Given the description of an element on the screen output the (x, y) to click on. 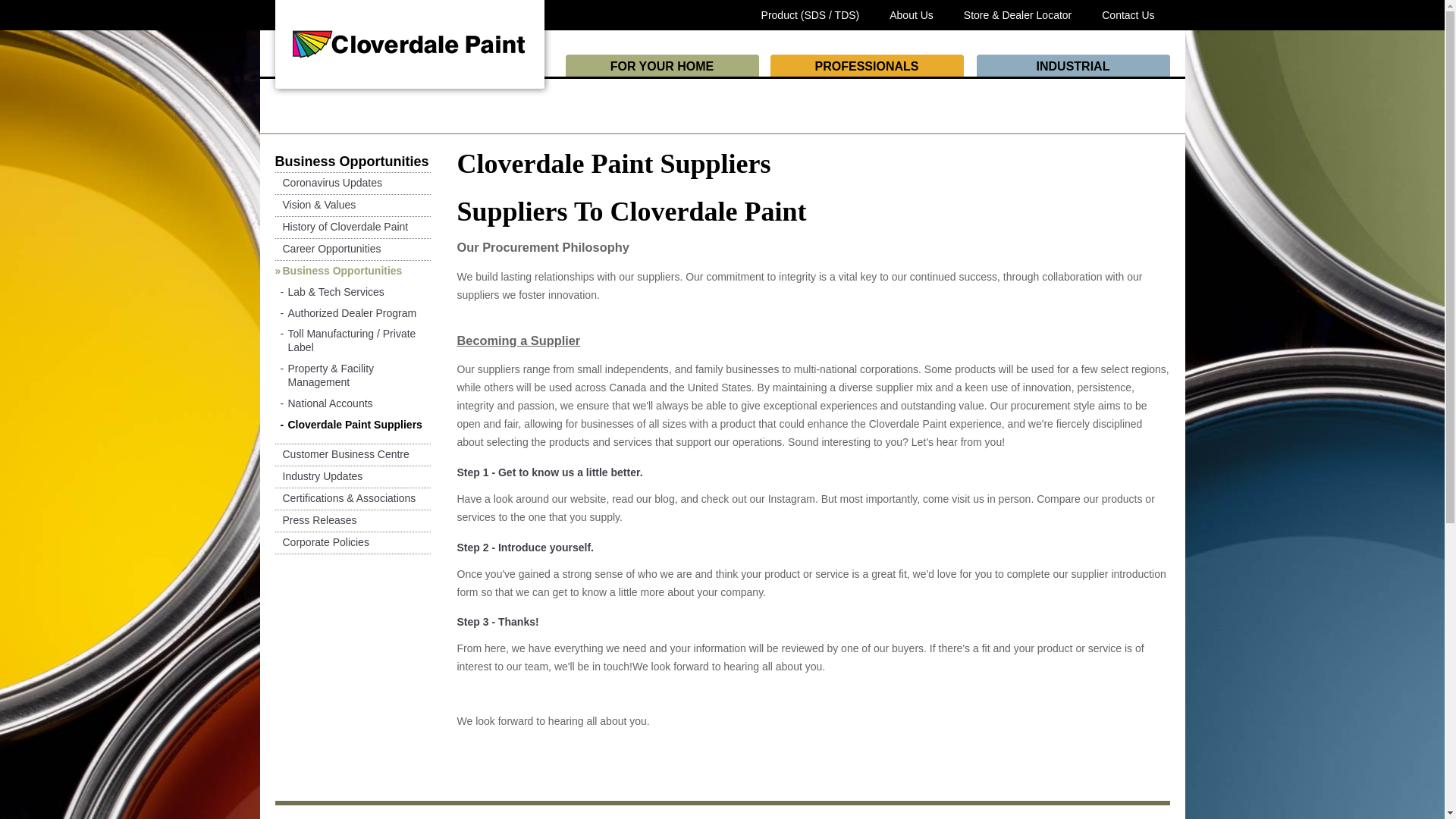
Corporate Policies (321, 542)
History of Cloverdale Paint (341, 227)
Industry Updates (318, 477)
Contact Us (1128, 15)
About Us (911, 15)
Cloverdale Paint Suppliers (351, 425)
INDUSTRIAL (1073, 65)
National Accounts (326, 404)
search (279, 4)
Career Opportunities (327, 249)
FOR YOUR HOME (662, 65)
Coronavirus Updates (328, 183)
Customer Business Centre (342, 454)
Press Releases (315, 520)
Authorized Dealer Program (348, 313)
